Given the description of an element on the screen output the (x, y) to click on. 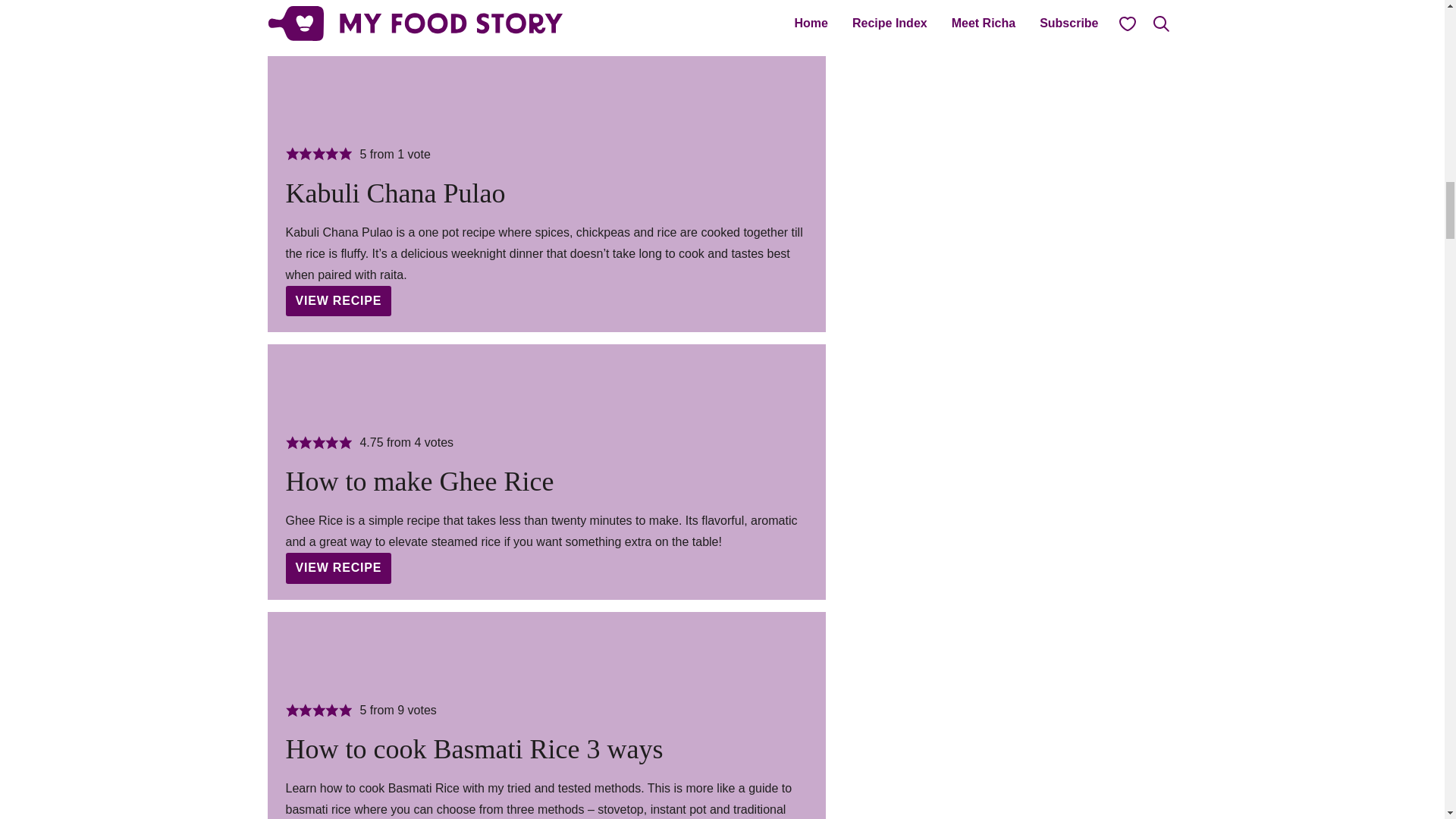
VIEW RECIPE (338, 13)
VIEW RECIPE (338, 300)
VIEW RECIPE (338, 567)
